Given the description of an element on the screen output the (x, y) to click on. 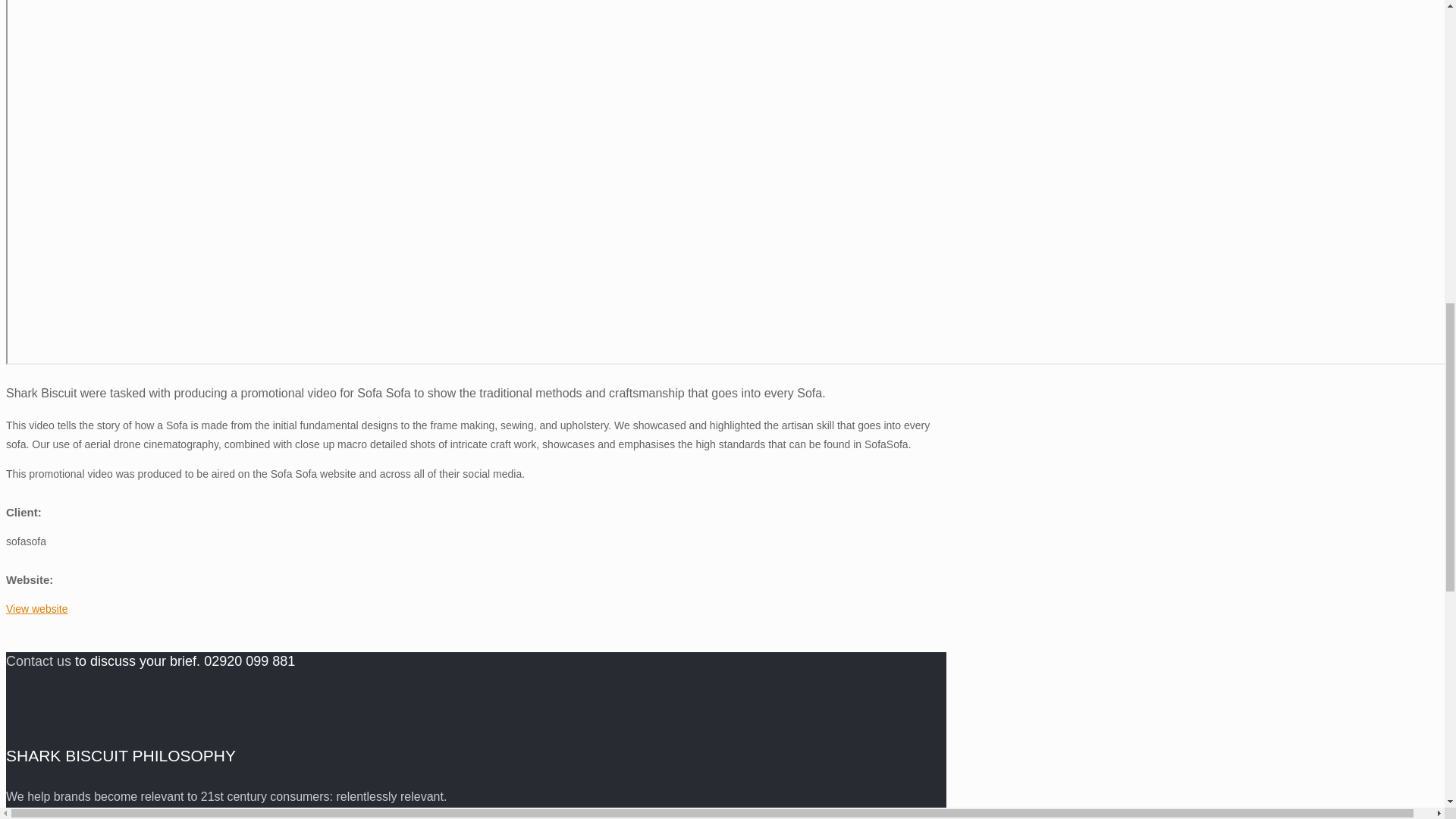
View website (35, 608)
Contact us to discuss your brief. 02920 099 881 (150, 662)
